Given the description of an element on the screen output the (x, y) to click on. 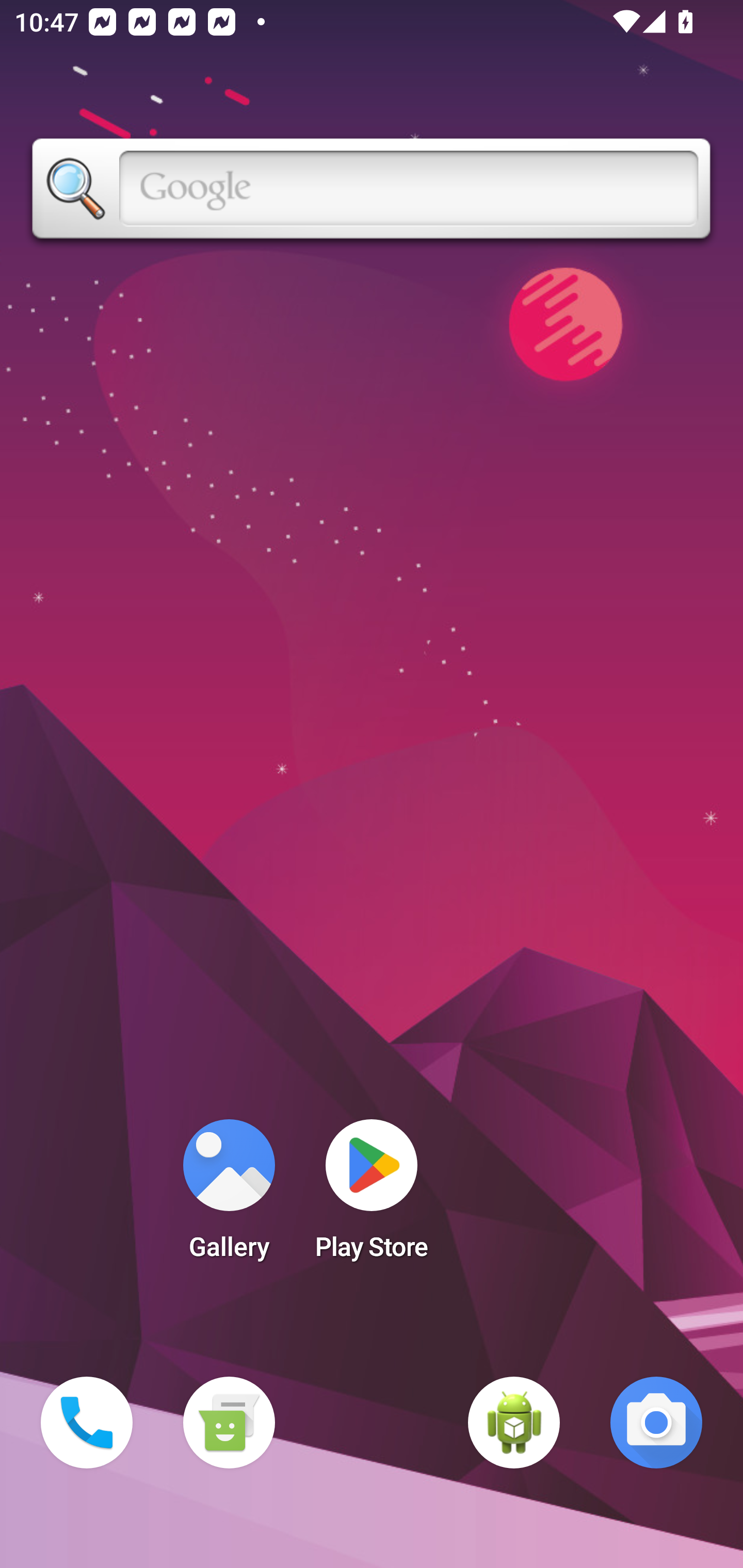
Gallery (228, 1195)
Play Store (371, 1195)
Phone (86, 1422)
Messaging (228, 1422)
WebView Browser Tester (513, 1422)
Camera (656, 1422)
